Given the description of an element on the screen output the (x, y) to click on. 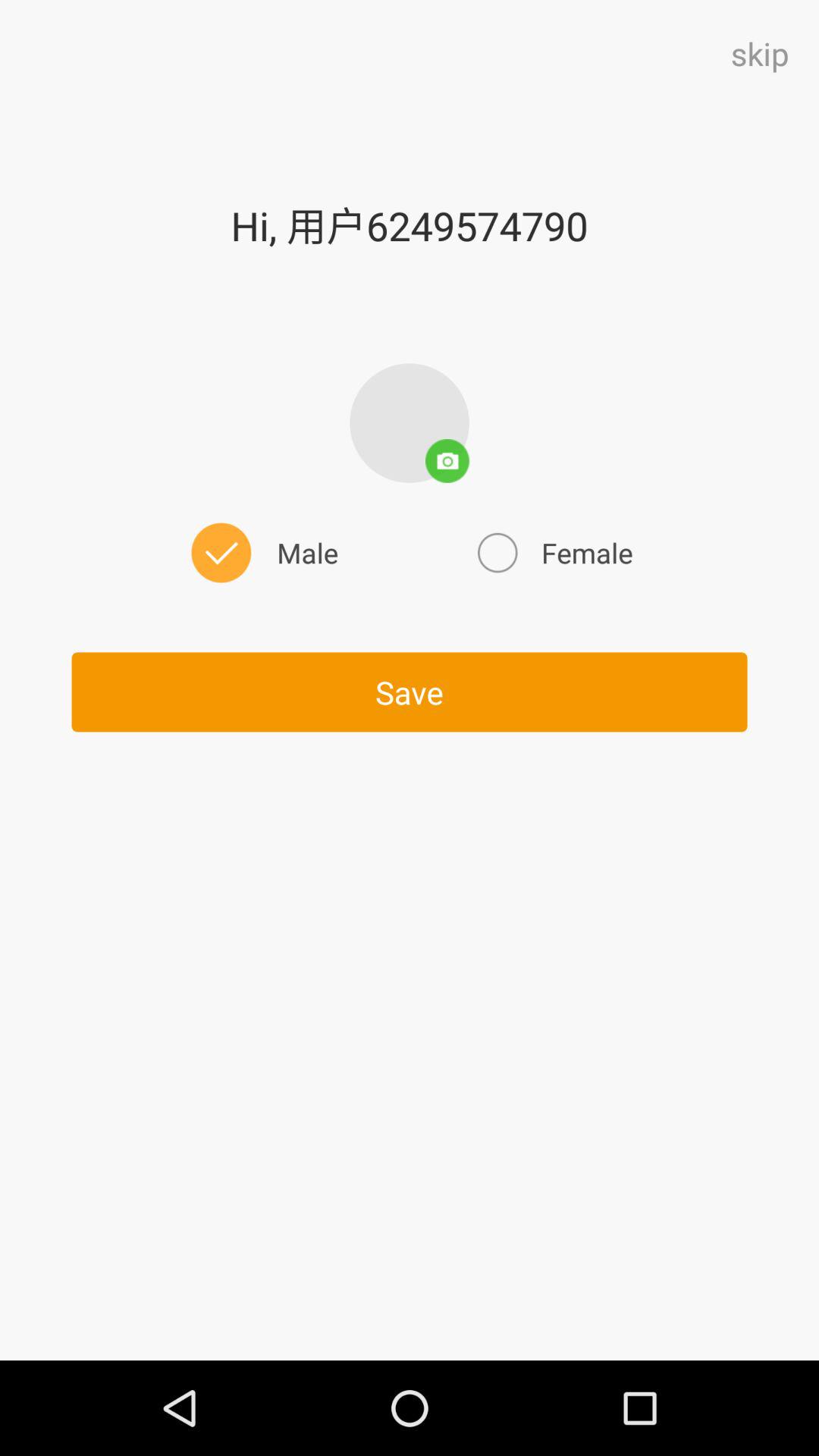
open skip at the top right corner (759, 53)
